Given the description of an element on the screen output the (x, y) to click on. 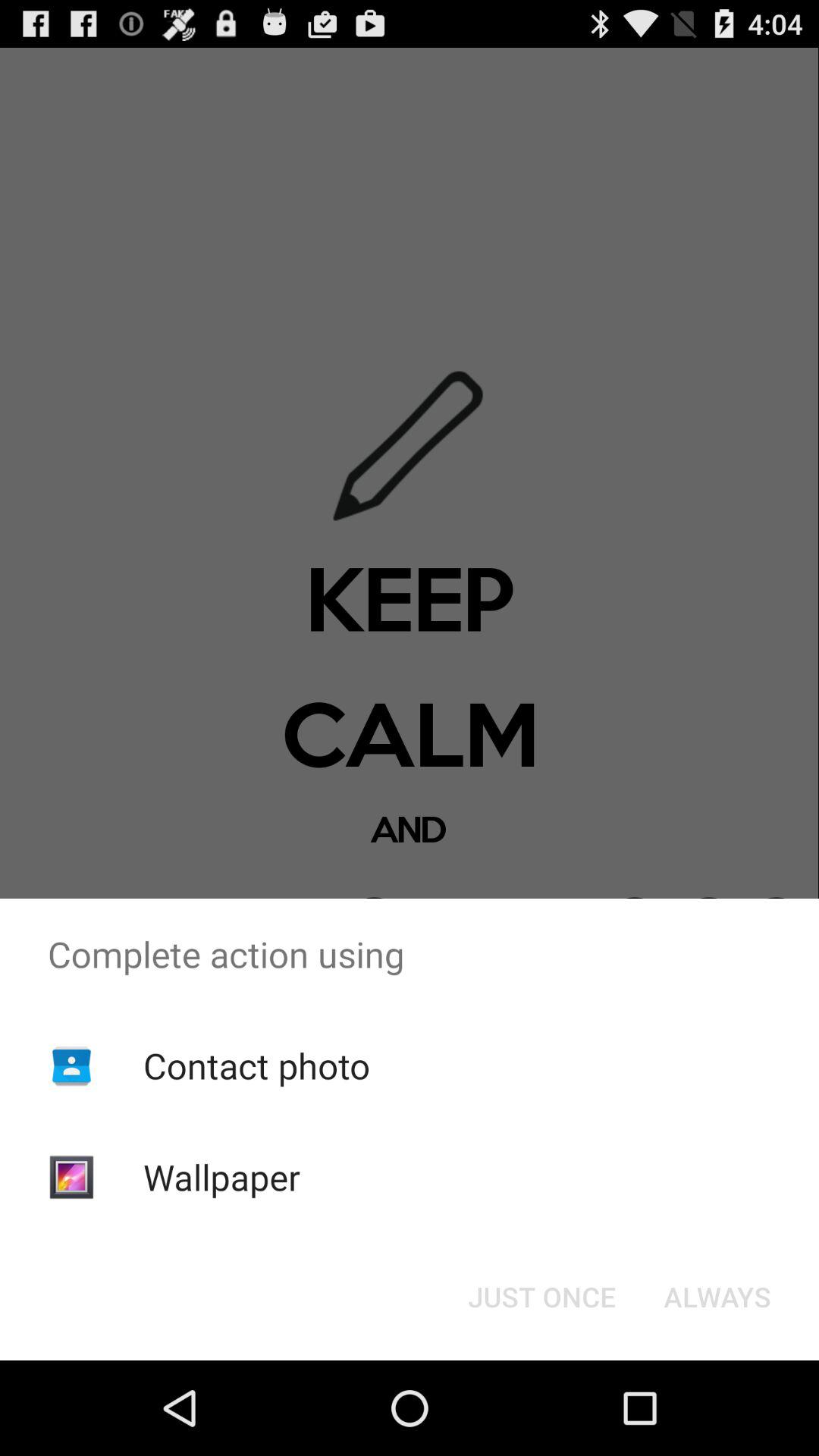
flip to just once (541, 1296)
